Given the description of an element on the screen output the (x, y) to click on. 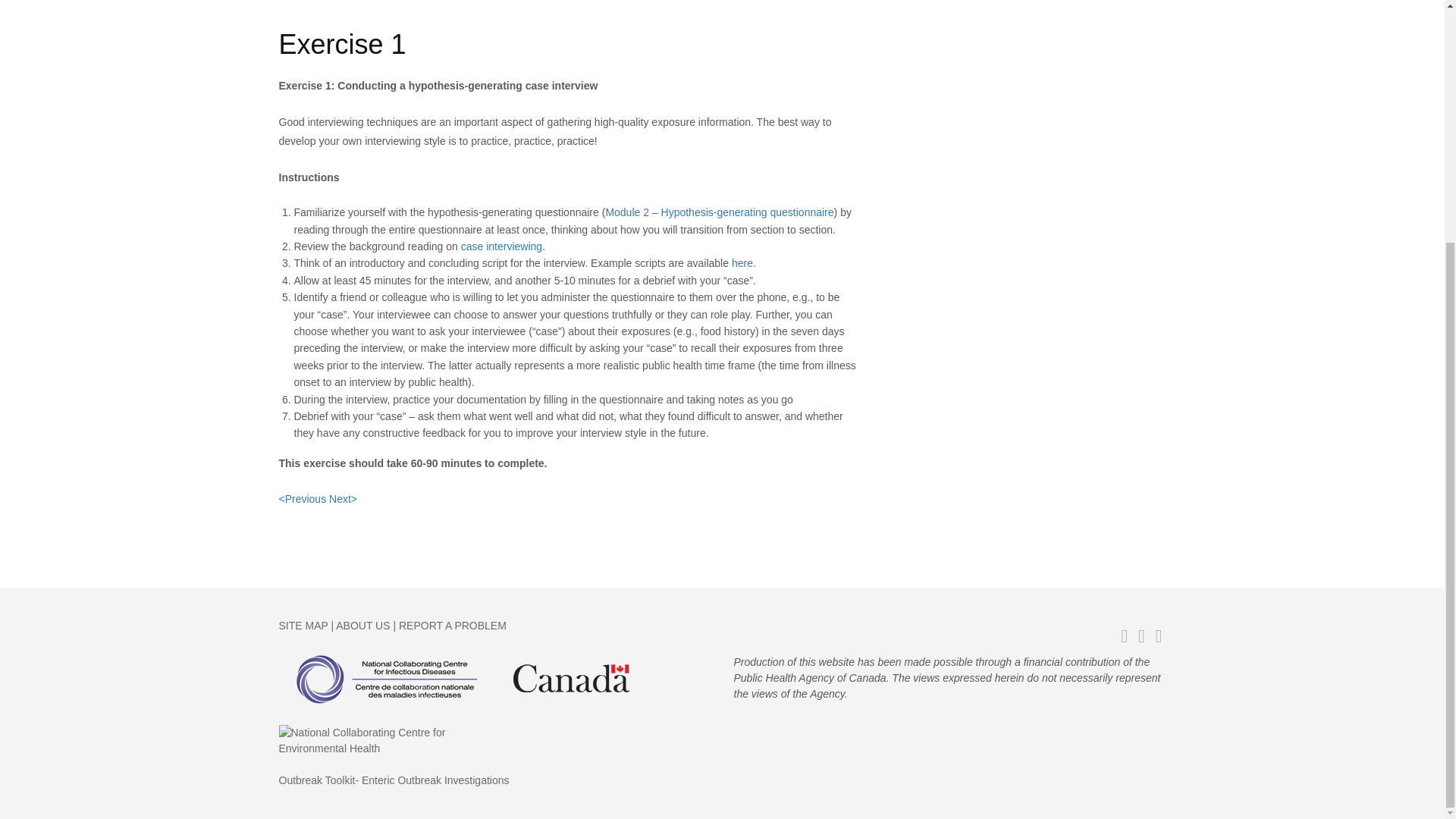
ABOUT US (363, 625)
SITE MAP (304, 625)
case interviewing (501, 246)
REPORT A PROBLEM (451, 625)
here (742, 263)
